Given the description of an element on the screen output the (x, y) to click on. 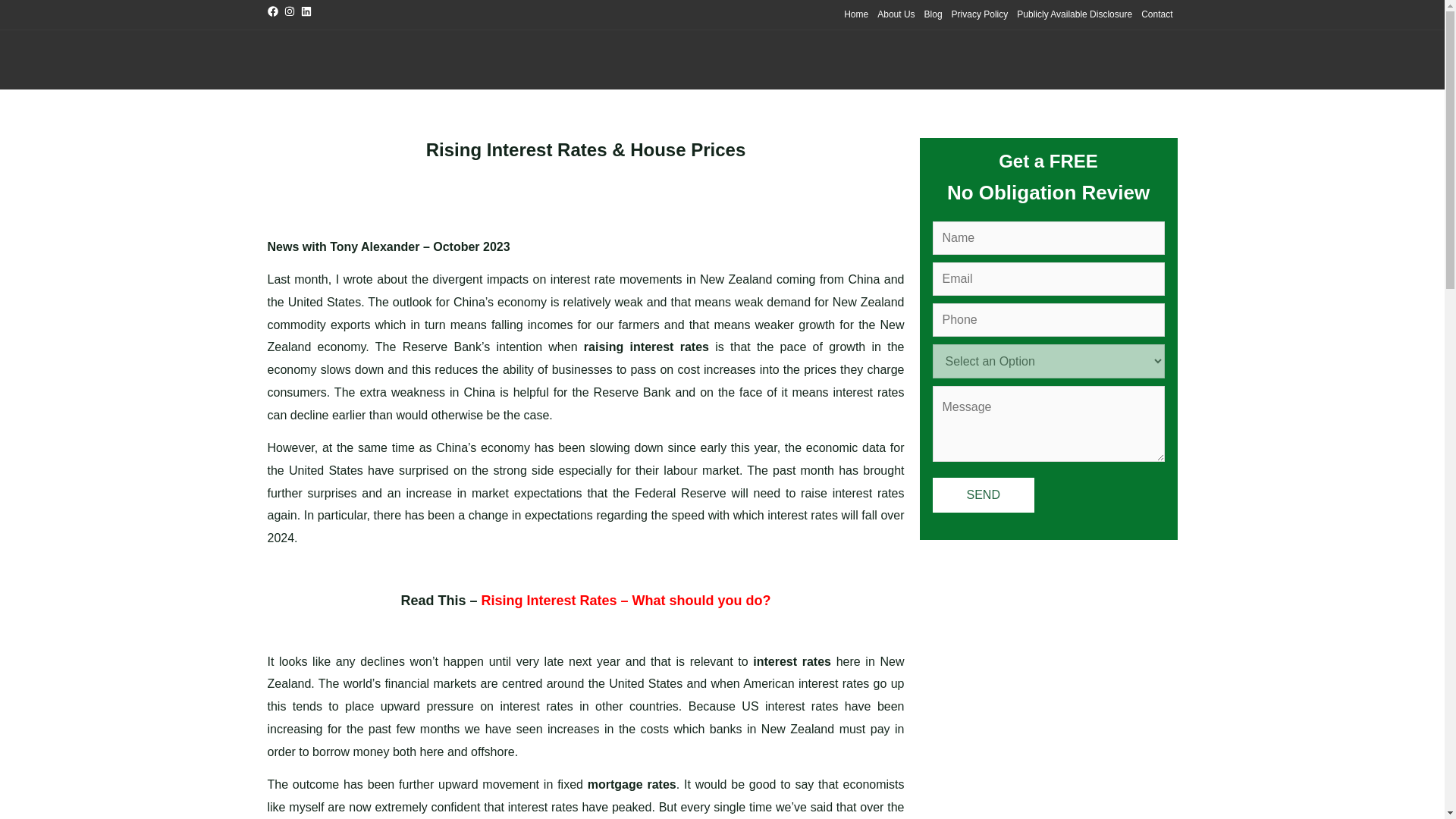
Send (983, 494)
Contact (1156, 14)
Home (856, 14)
Blog (933, 14)
Facebook (274, 13)
Privacy Policy (980, 14)
Publicly Available Disclosure (1074, 14)
Instagram (292, 13)
About Us (895, 14)
Linkedin (309, 13)
